Given the description of an element on the screen output the (x, y) to click on. 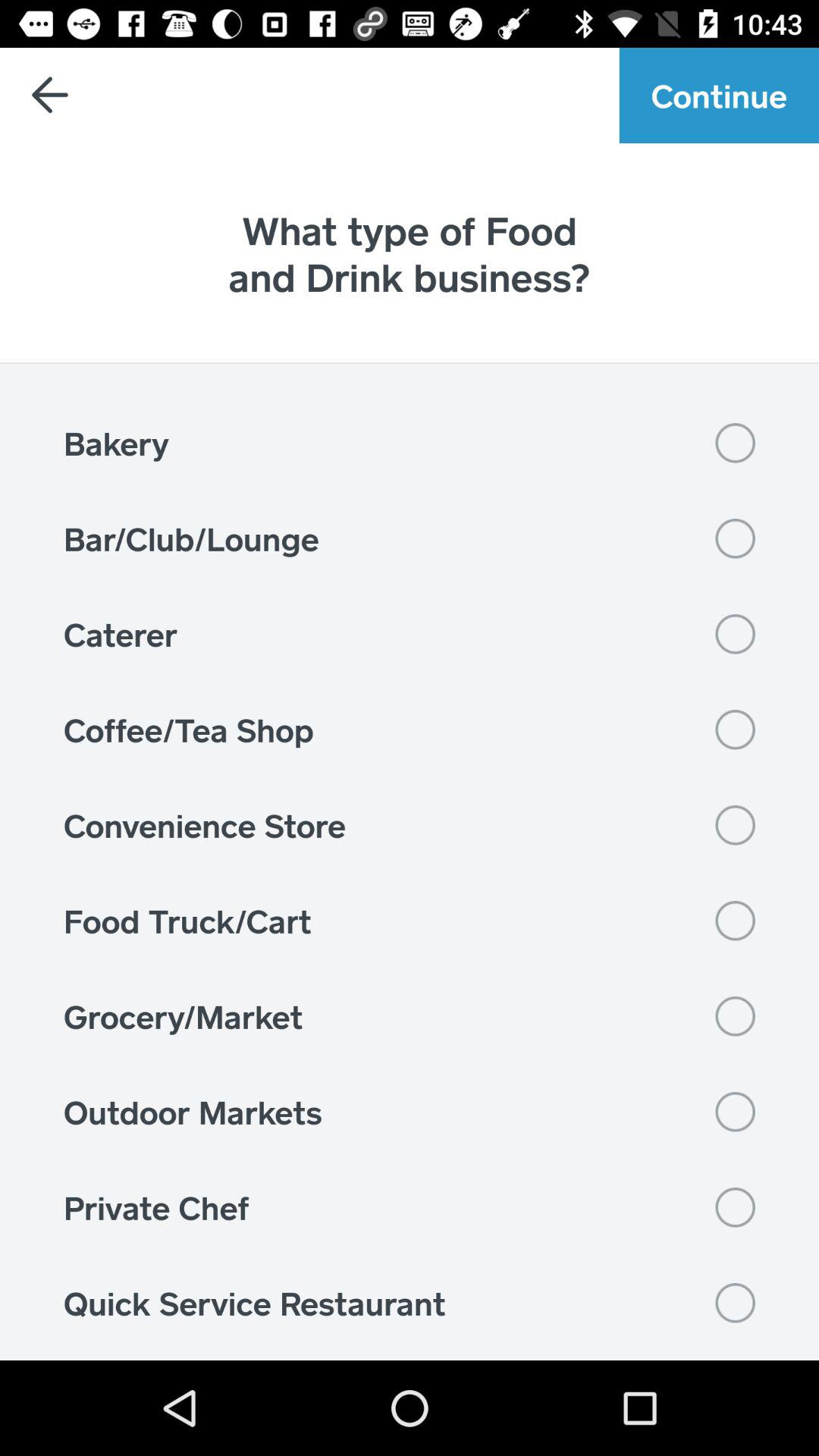
press the icon above the outdoor markets item (409, 1016)
